Given the description of an element on the screen output the (x, y) to click on. 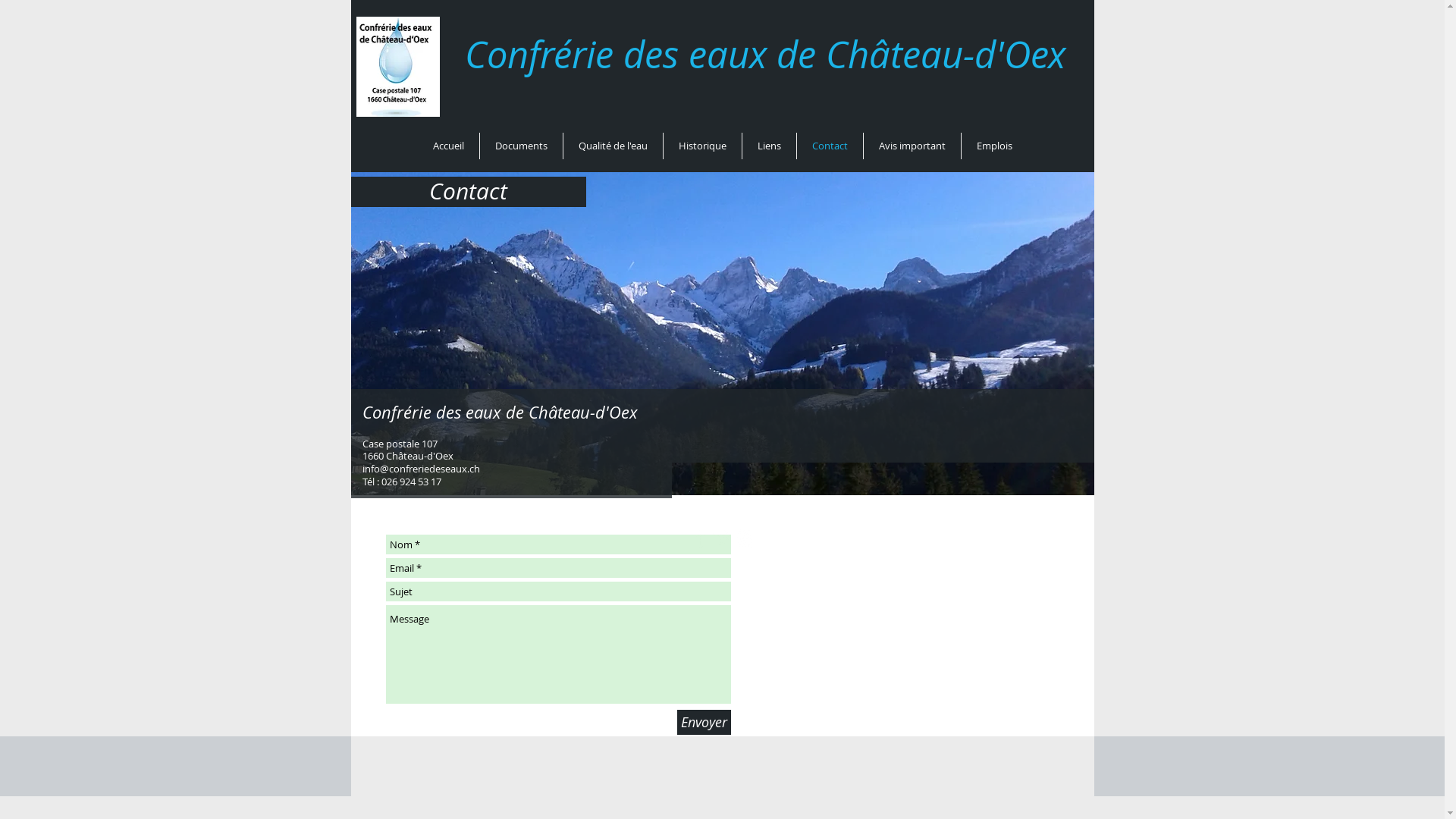
logo conf SIT.jpg Element type: hover (397, 66)
Liens Element type: text (768, 145)
info@confreriedeseaux.ch Element type: text (421, 468)
Historique Element type: text (701, 145)
Emplois Element type: text (994, 145)
Envoyer Element type: text (703, 721)
Contact Element type: text (829, 145)
Google Maps Element type: hover (912, 635)
Documents Element type: text (520, 145)
Accueil Element type: text (447, 145)
Avis important Element type: text (911, 145)
Photo-0025.jpg Element type: hover (721, 313)
